Given the description of an element on the screen output the (x, y) to click on. 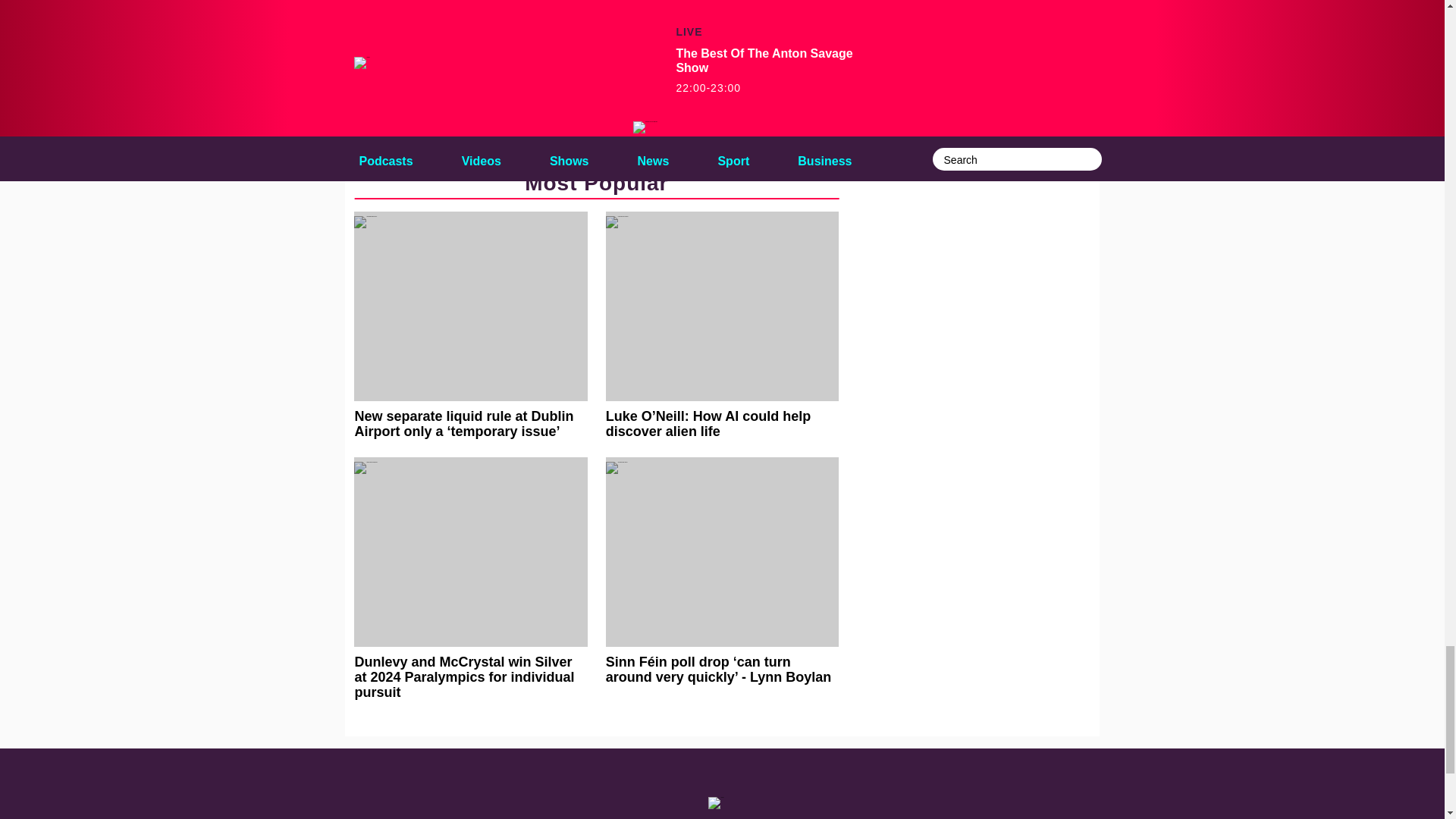
site terms (772, 818)
Privacy (897, 818)
LIAM REID (659, 84)
LICENSED VINTNERS ASSOCIATION (451, 115)
advertising (644, 818)
contact (547, 818)
Privacy Policy (838, 818)
competitions (708, 818)
CRSS (476, 53)
BUDGET 2021 (396, 53)
